Given the description of an element on the screen output the (x, y) to click on. 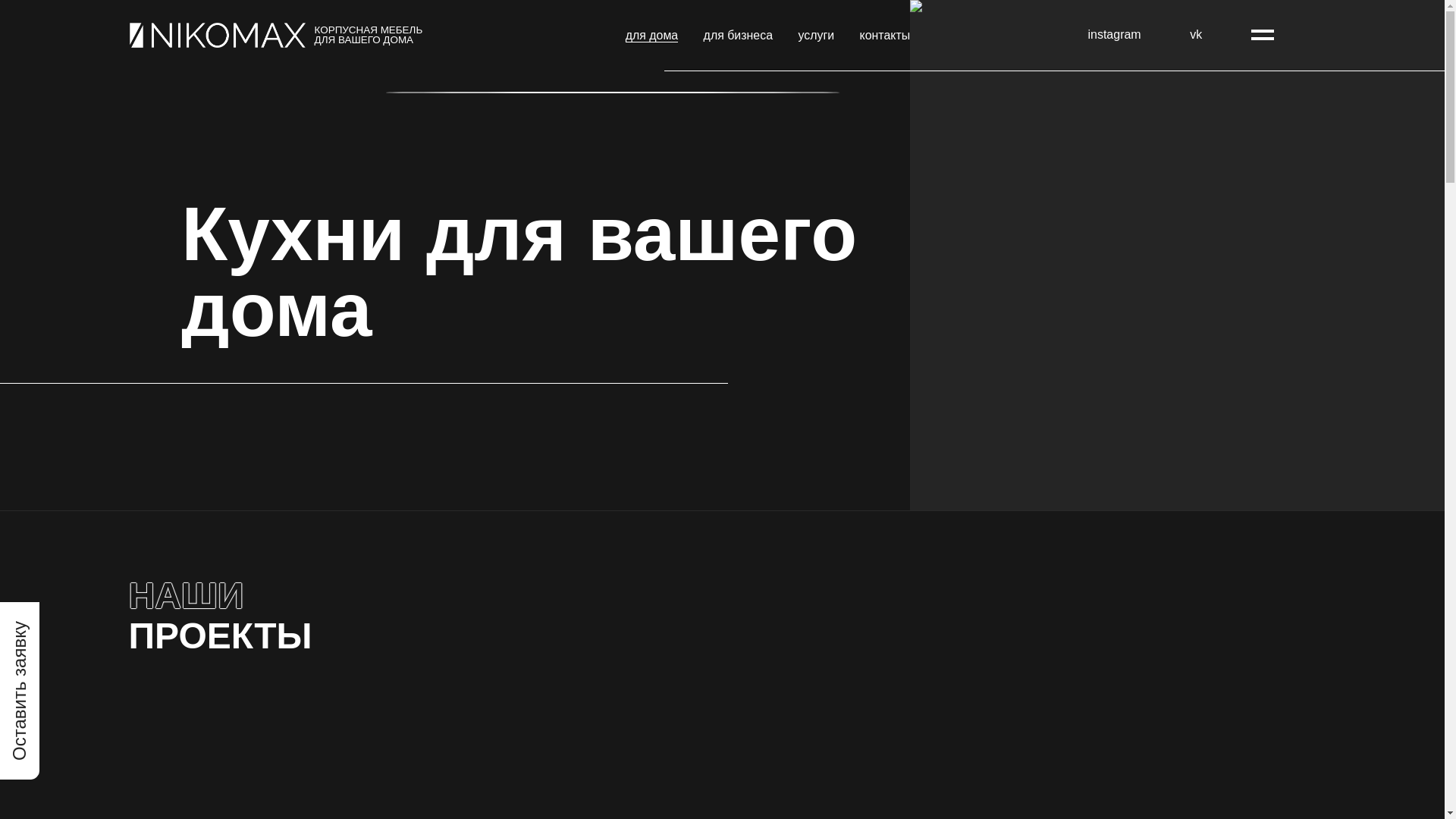
instagram Element type: text (1113, 34)
vk Element type: text (1195, 34)
